Given the description of an element on the screen output the (x, y) to click on. 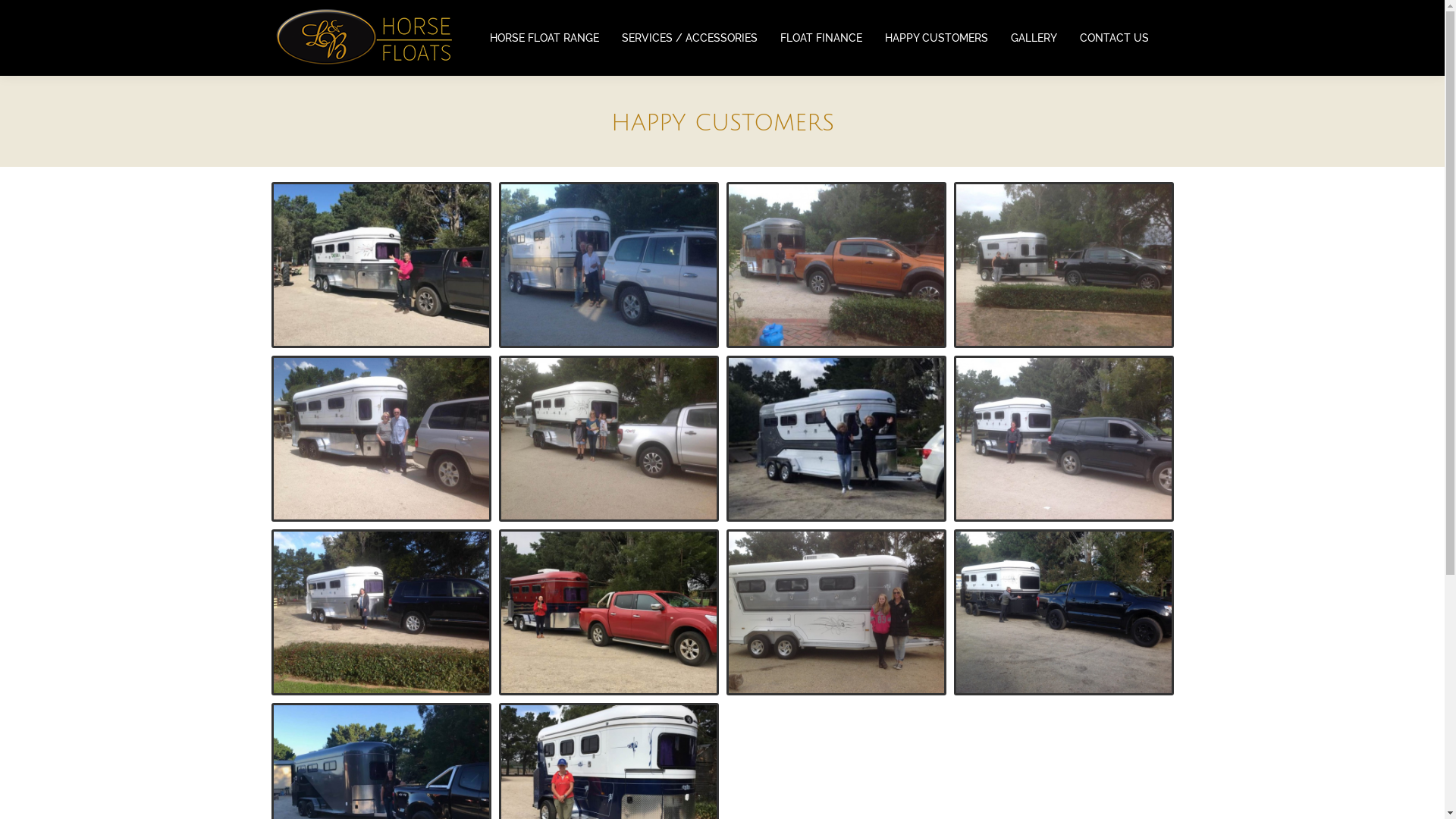
Congratulations Peta on your new L&B floats Element type: hover (381, 612)
Congratulations Ashlyn &julie on your new L&B float Element type: hover (836, 438)
Congratulations Monika on your new L&B float Element type: hover (836, 265)
Congratulations Sally rich on your new L&B float Element type: hover (381, 438)
Congratulations Leanne LeClaire on your new L&B float Element type: hover (1063, 438)
Congratulations Sabine on your new L&b float Element type: hover (381, 265)
Congratulations Taryn on your new L&B b float Element type: hover (1063, 265)
HAPPY CUSTOMERS Element type: text (936, 37)
Congratulations Loretta on your new L&B float Element type: hover (608, 438)
Congratulations Chriss & Lydian on your L&B float Element type: hover (608, 265)
Congratulations To Kelly Murrey on your new L&B float Element type: hover (836, 612)
HORSE FLOAT RANGE Element type: text (543, 37)
CONTACT US Element type: text (1113, 37)
FLOAT FINANCE Element type: text (820, 37)
SERVICES / ACCESSORIES Element type: text (688, 37)
GALLERY Element type: text (1033, 37)
Congratulations Bec on your new L&b float Element type: hover (608, 612)
